Given the description of an element on the screen output the (x, y) to click on. 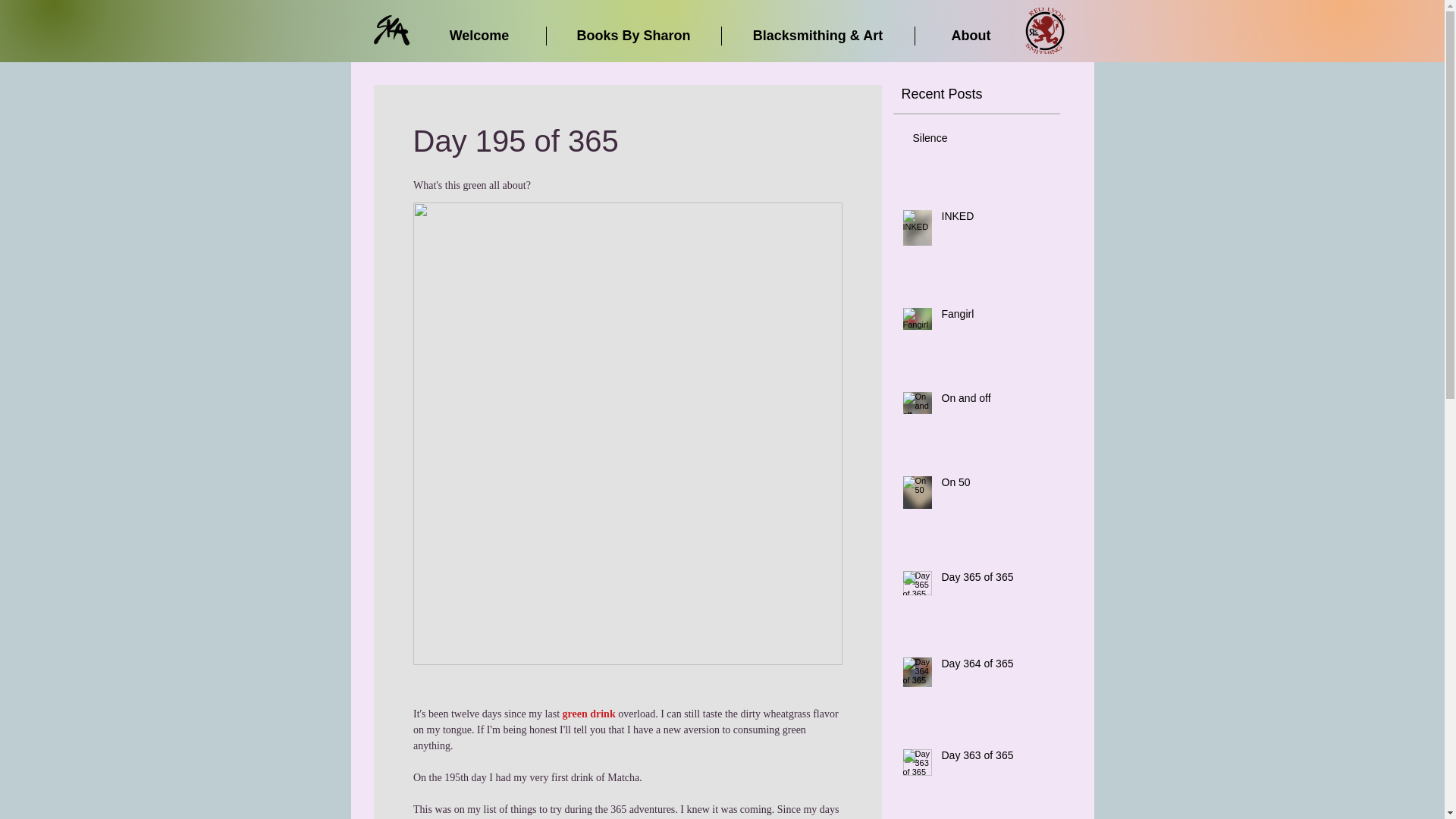
On 50 (996, 485)
About (970, 35)
Welcome (478, 35)
green drink (588, 713)
Day 365 of 365 (996, 580)
Sharon K. Angelici Logo (391, 30)
On and off (996, 401)
Books By Sharon (633, 35)
Day 364 of 365 (996, 667)
Sharon K. Angelici Logo (1045, 30)
INKED (996, 219)
Silence (981, 141)
Fangirl (996, 317)
Day 363 of 365 (996, 758)
